Given the description of an element on the screen output the (x, y) to click on. 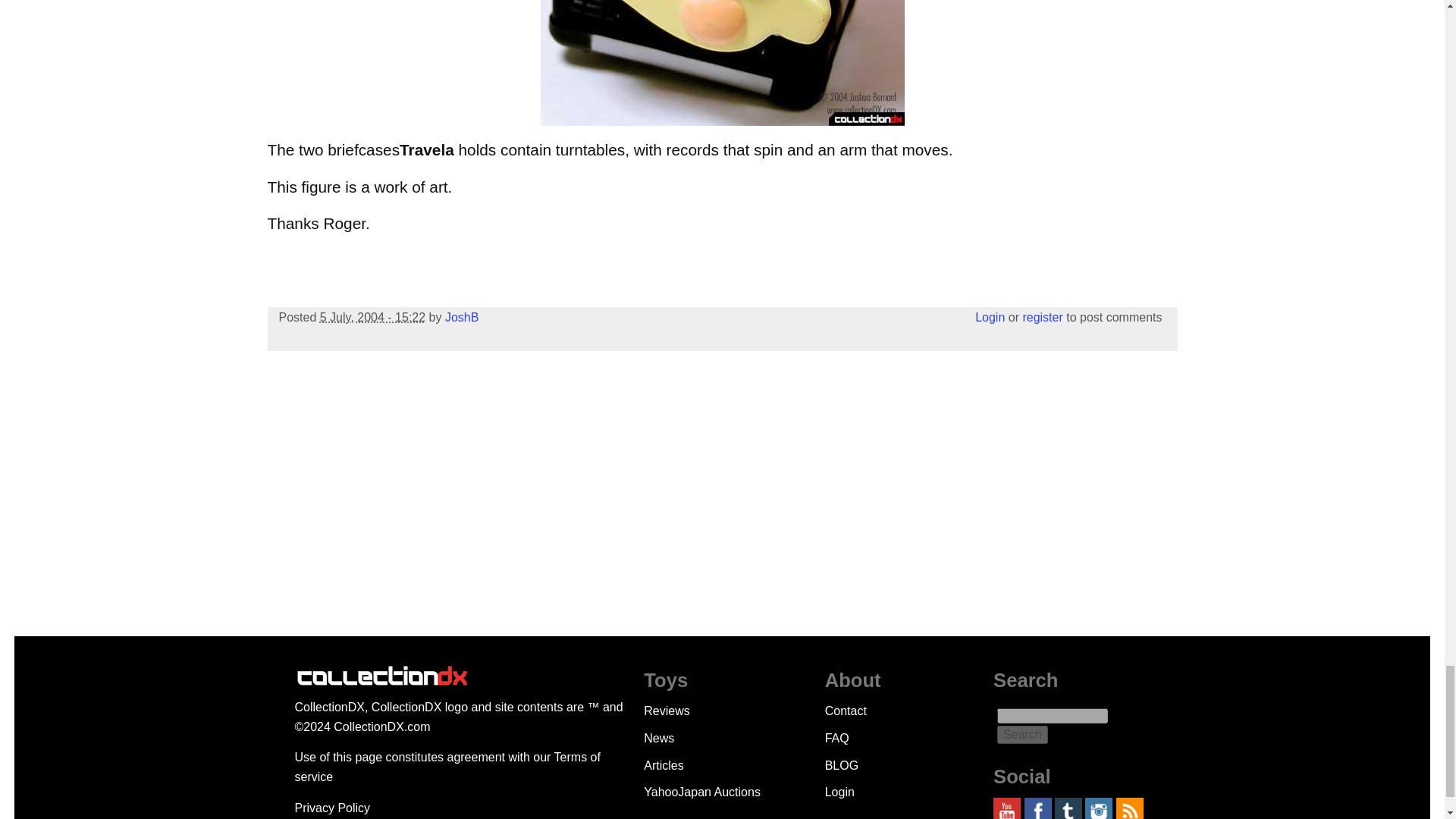
Search (1022, 734)
